Given the description of an element on the screen output the (x, y) to click on. 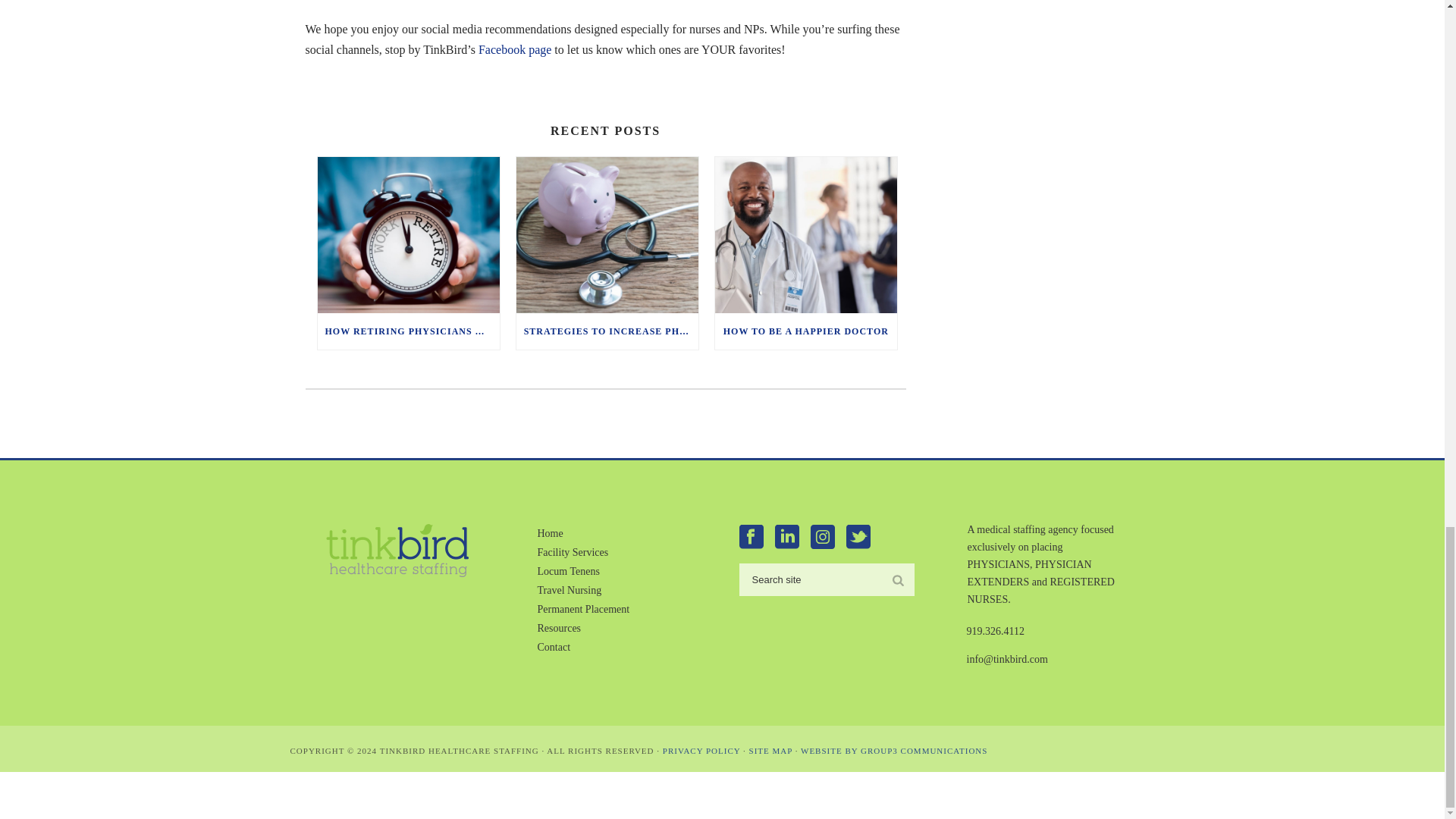
Follow Us on instagram (821, 537)
How Retiring Physicians Will Impact Healthcare (408, 234)
Follow Us on twitter (857, 537)
Follow Us on linkedin (786, 537)
How to Be a Happier Doctor (805, 234)
Strategies to Increase Physician Wealth (607, 234)
Follow Us on facebook (750, 537)
